Given the description of an element on the screen output the (x, y) to click on. 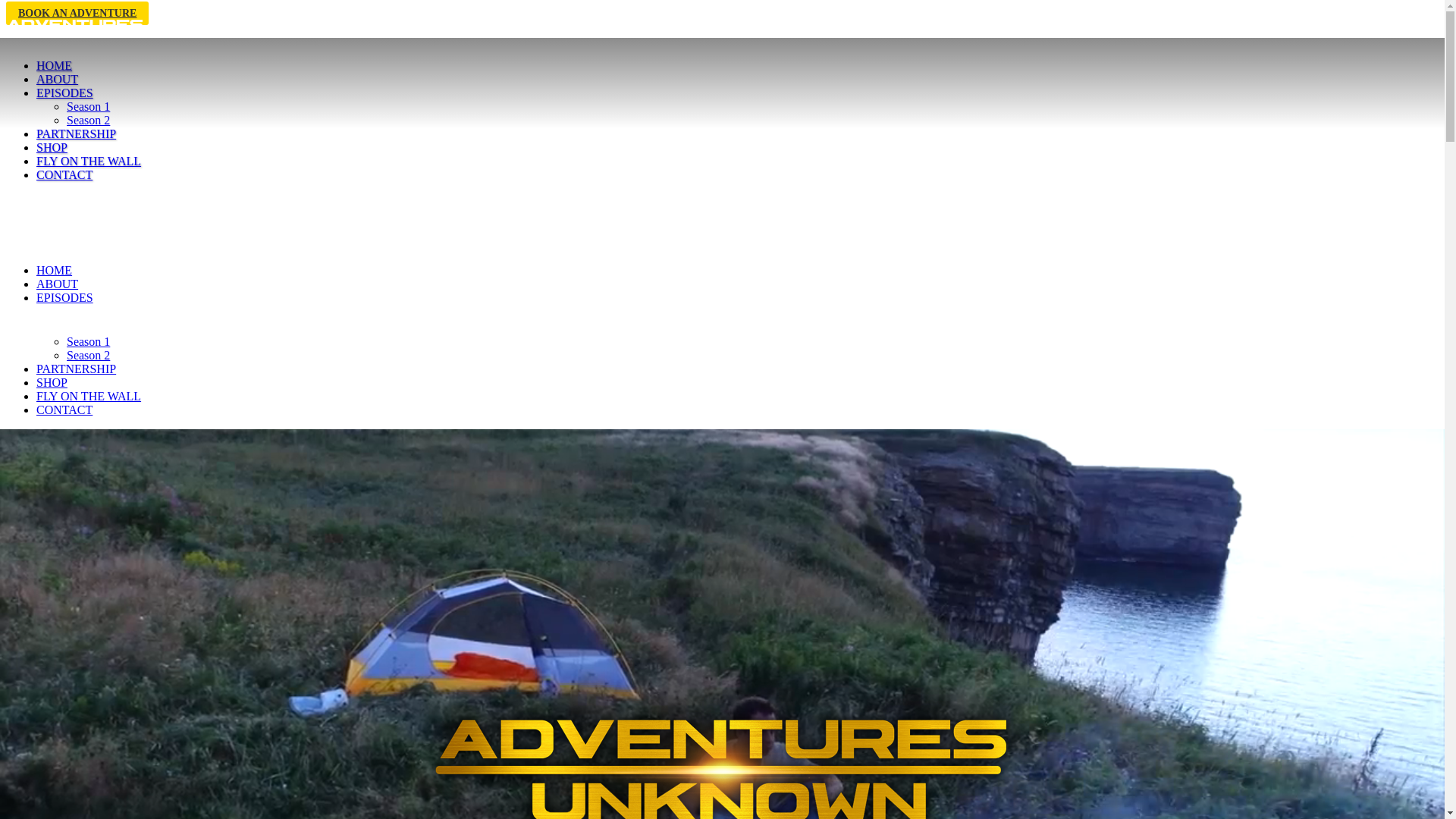
BOOK AN ADVENTURE Element type: text (77, 13)
Season 1 Element type: text (87, 341)
PARTNERSHIP Element type: text (76, 133)
EPISODES Element type: text (64, 297)
SHOP Element type: text (51, 382)
EPISODES Element type: text (64, 92)
CONTACT Element type: text (64, 174)
Season 1 Element type: text (87, 106)
FLY ON THE WALL Element type: text (88, 395)
ABOUT Element type: text (57, 78)
SHOP Element type: text (51, 147)
CONTACT Element type: text (64, 409)
ABOUT Element type: text (57, 283)
PARTNERSHIP Element type: text (76, 368)
HOME Element type: text (54, 65)
HOME Element type: text (54, 269)
Season 2 Element type: text (87, 354)
Season 2 Element type: text (87, 119)
Skip to content Element type: text (5, 5)
FLY ON THE WALL Element type: text (88, 160)
